Given the description of an element on the screen output the (x, y) to click on. 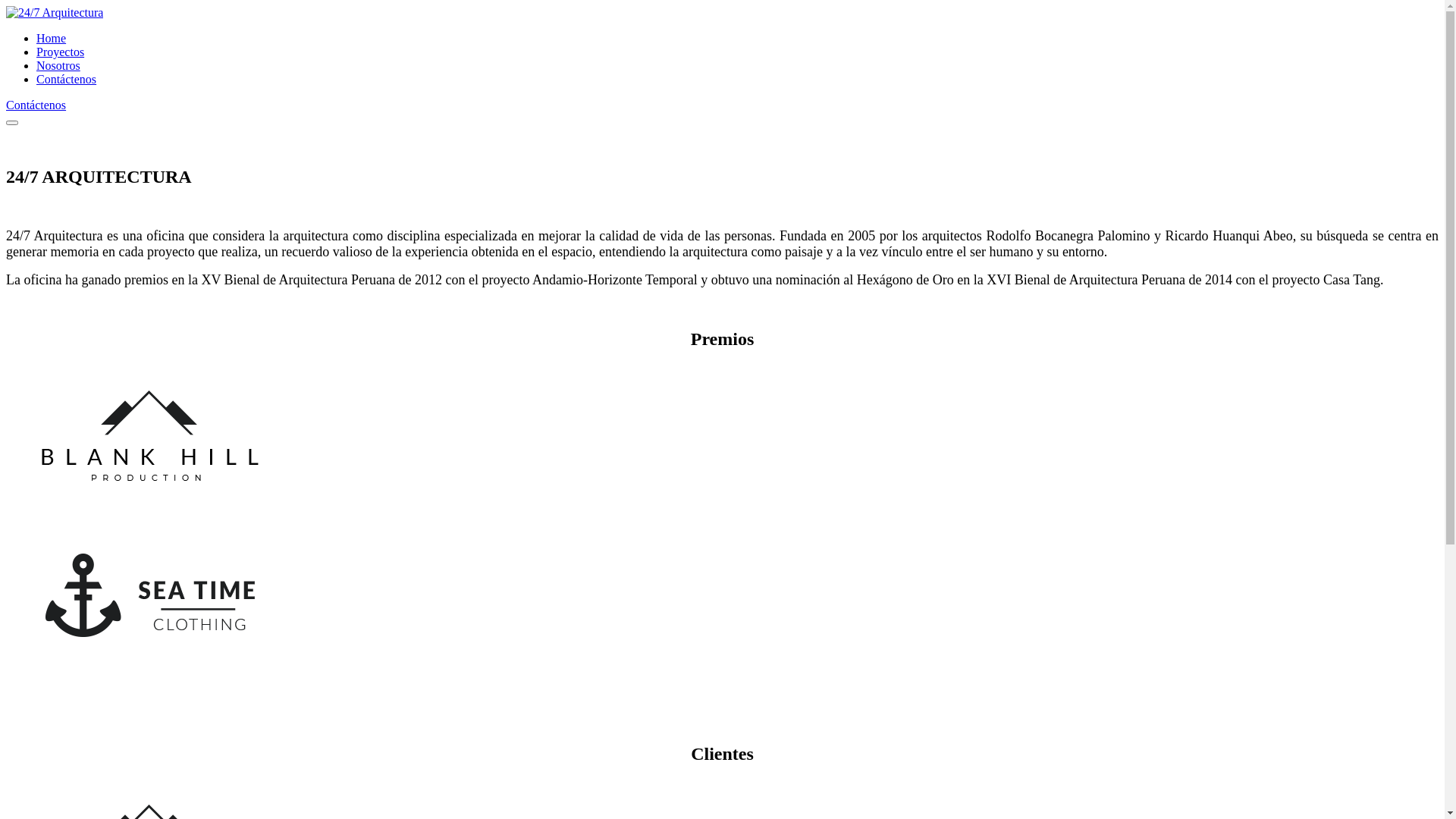
Proyectos Element type: text (60, 51)
24/7 Arquitectura Element type: hover (54, 12)
Home Element type: text (50, 37)
Nosotros Element type: text (58, 65)
